Given the description of an element on the screen output the (x, y) to click on. 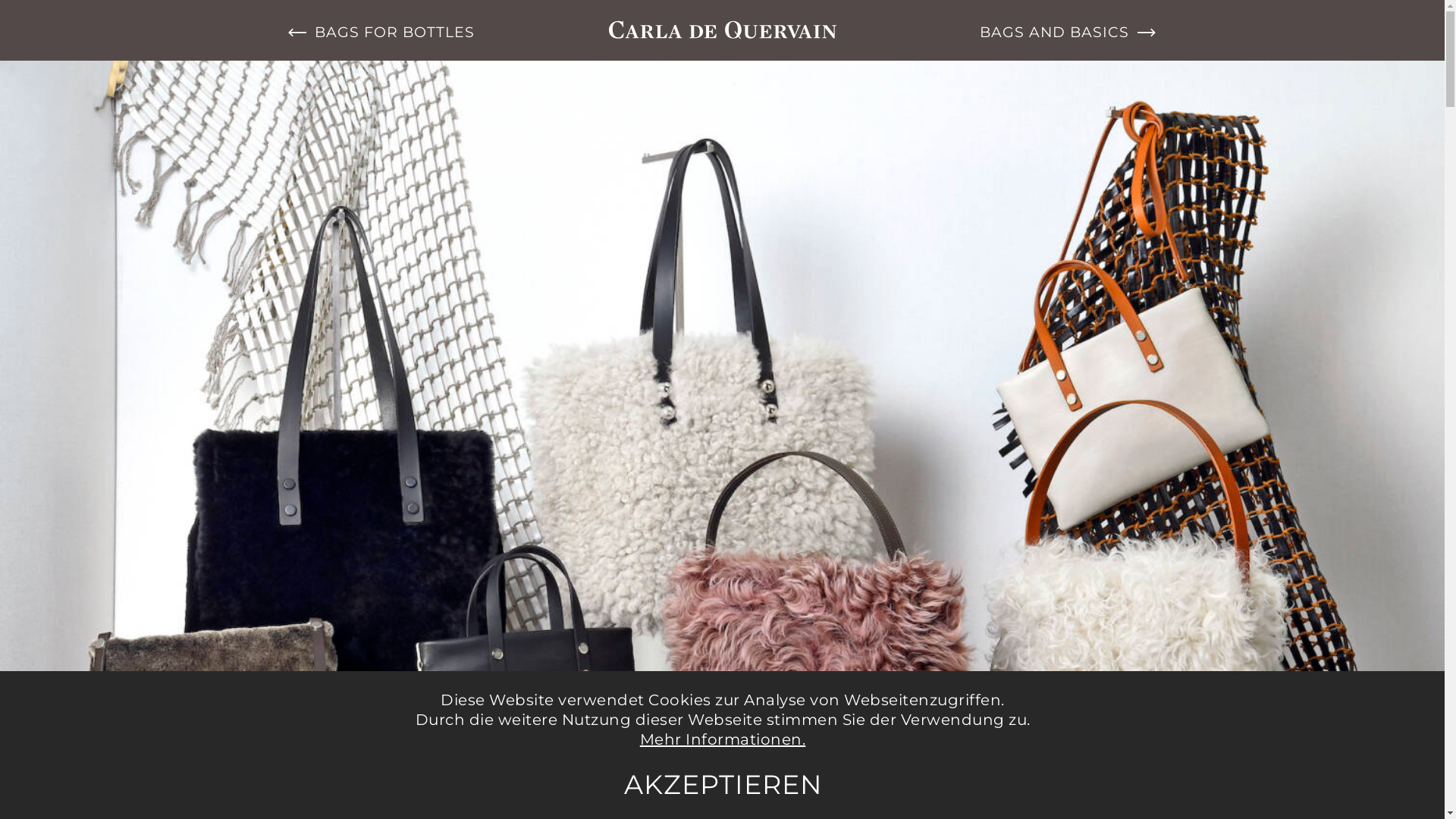
arrow-nav-left-black BAGS FOR BOTTLES Element type: text (393, 31)
AKZEPTIEREN Element type: text (722, 784)
Mehr Informationen. Element type: text (723, 739)
BAGS AND BASICS arrow-nav-right-black Element type: text (1049, 31)
Toggle navigation Element type: text (722, 29)
